Given the description of an element on the screen output the (x, y) to click on. 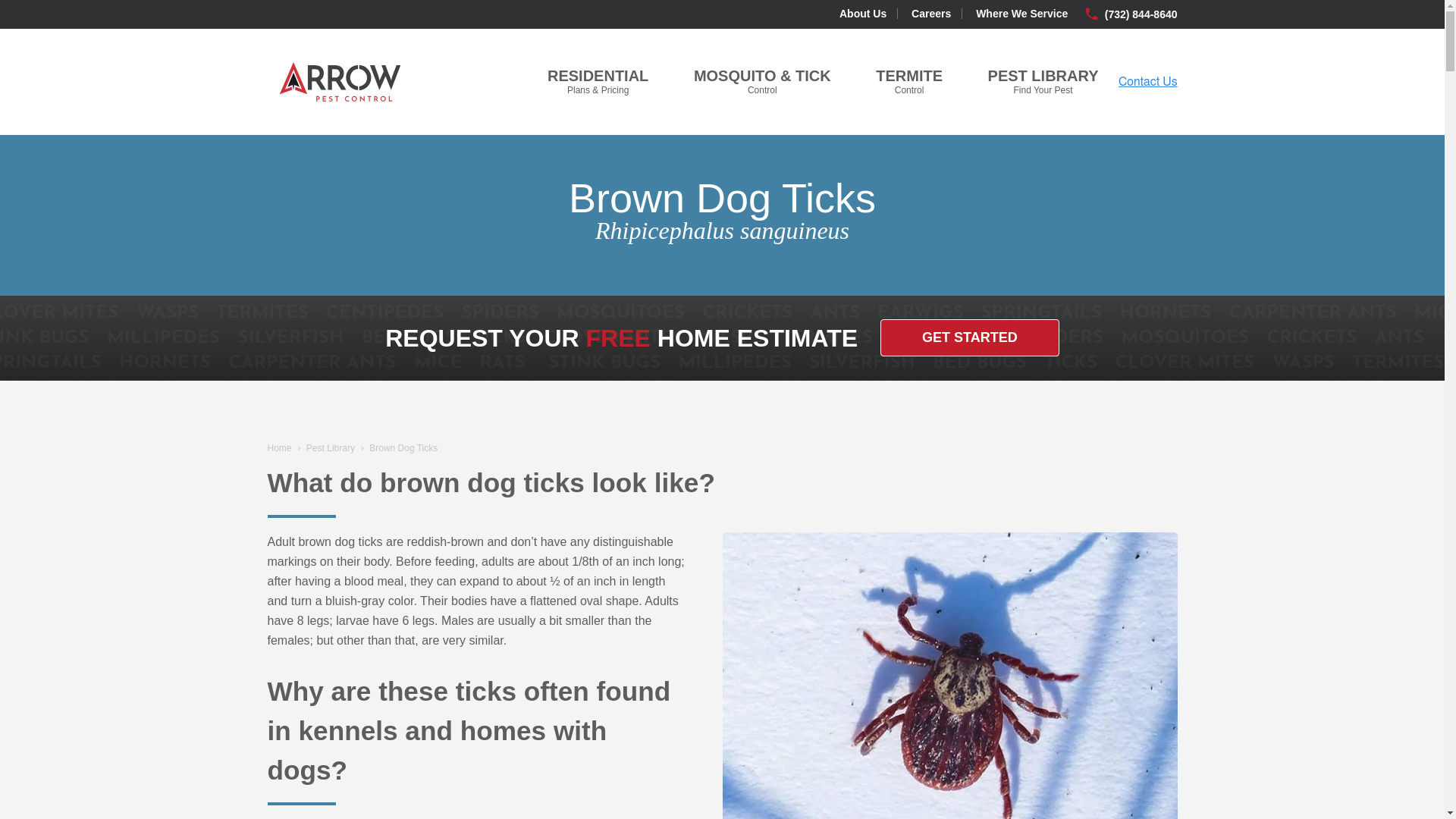
Where We Service (909, 81)
GET STARTED (1021, 13)
The Ultimate Guide To Brown Dog Ticks In New Jersey (969, 337)
Arrow Pest Control (949, 675)
Careers (1043, 81)
Pest Library (339, 81)
About Us (930, 13)
Home (330, 448)
